Given the description of an element on the screen output the (x, y) to click on. 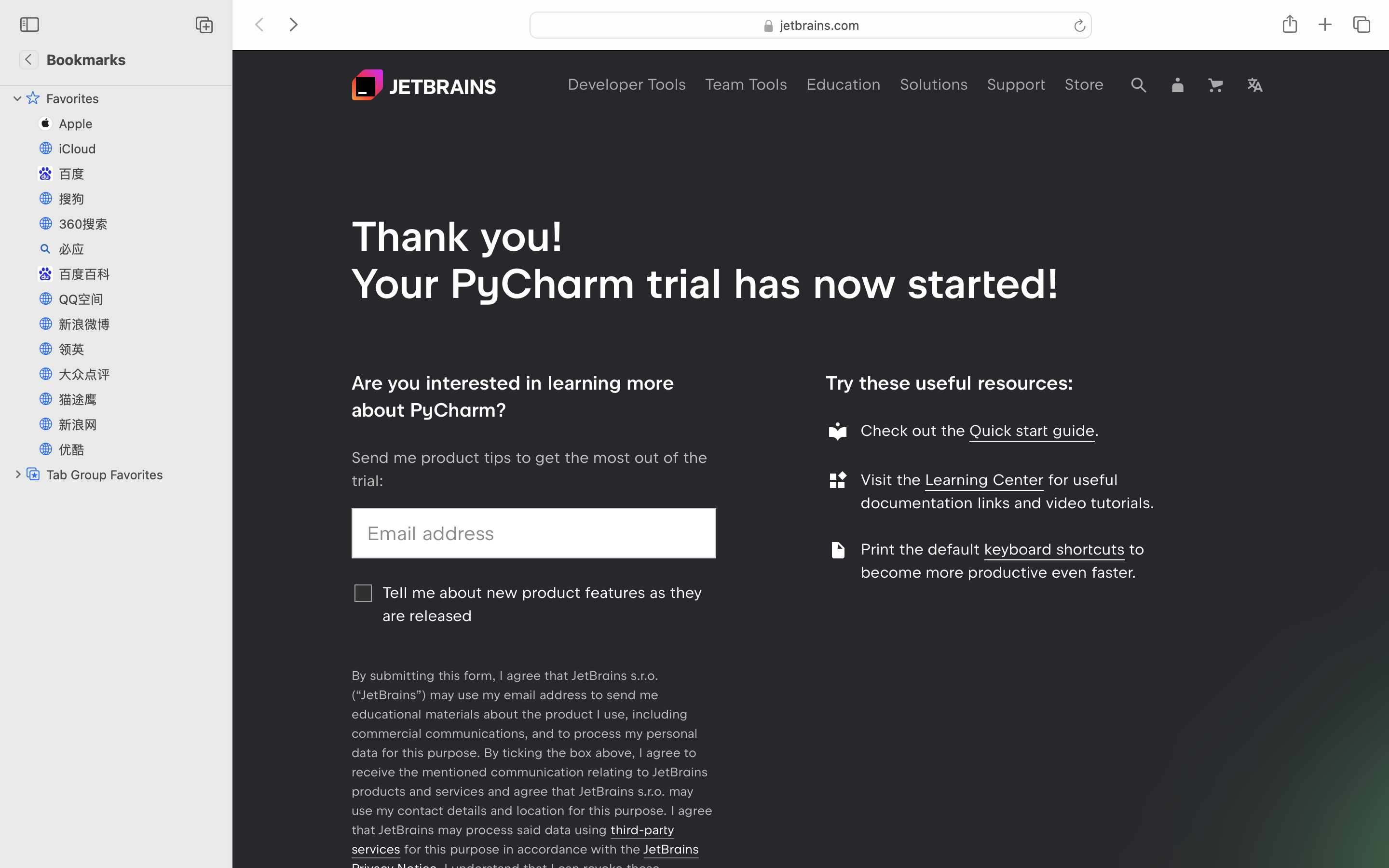
QQ空间 Element type: AXTextField (139, 298)
领英 Element type: AXTextField (139, 348)
Thank you! Element type: AXStaticText (457, 236)
Bookmarks Element type: AXStaticText (85, 59)
大众点评 Element type: AXTextField (139, 373)
